Given the description of an element on the screen output the (x, y) to click on. 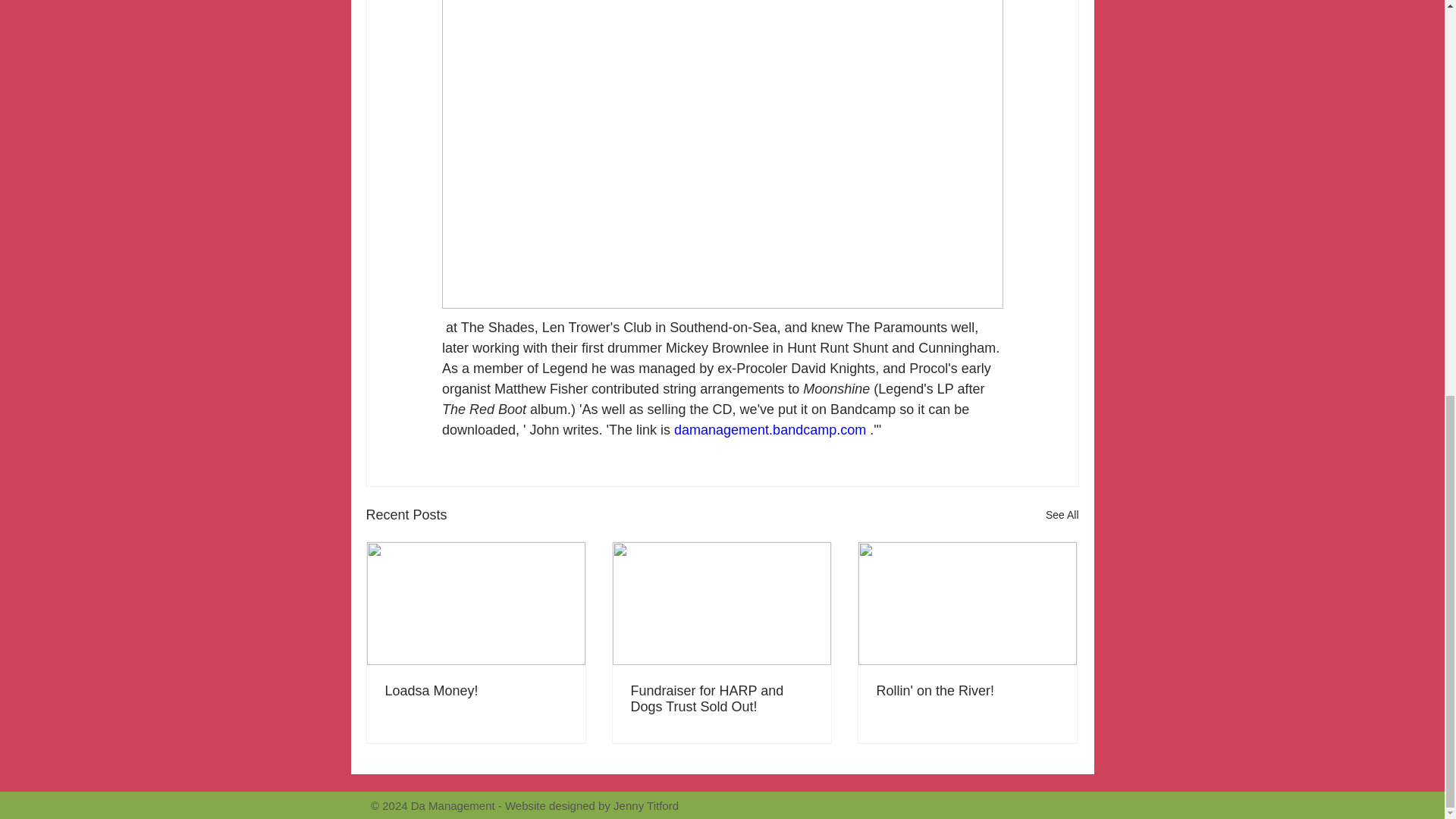
damanagement.bandcamp.com (770, 429)
Rollin' on the River! (967, 691)
See All (1061, 515)
Loadsa Money! (476, 691)
Fundraiser for HARP and Dogs Trust Sold Out! (721, 698)
